Given the description of an element on the screen output the (x, y) to click on. 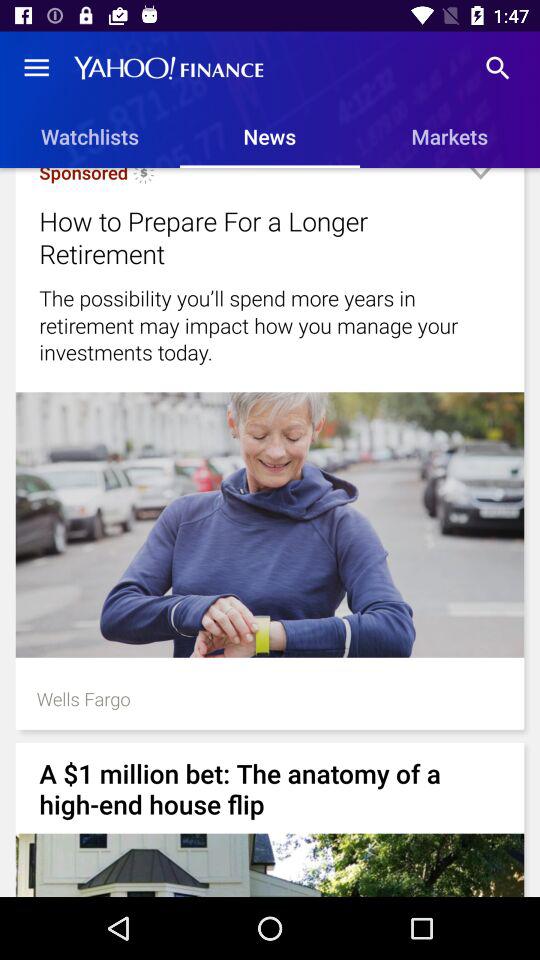
press icon above watchlists icon (36, 68)
